Given the description of an element on the screen output the (x, y) to click on. 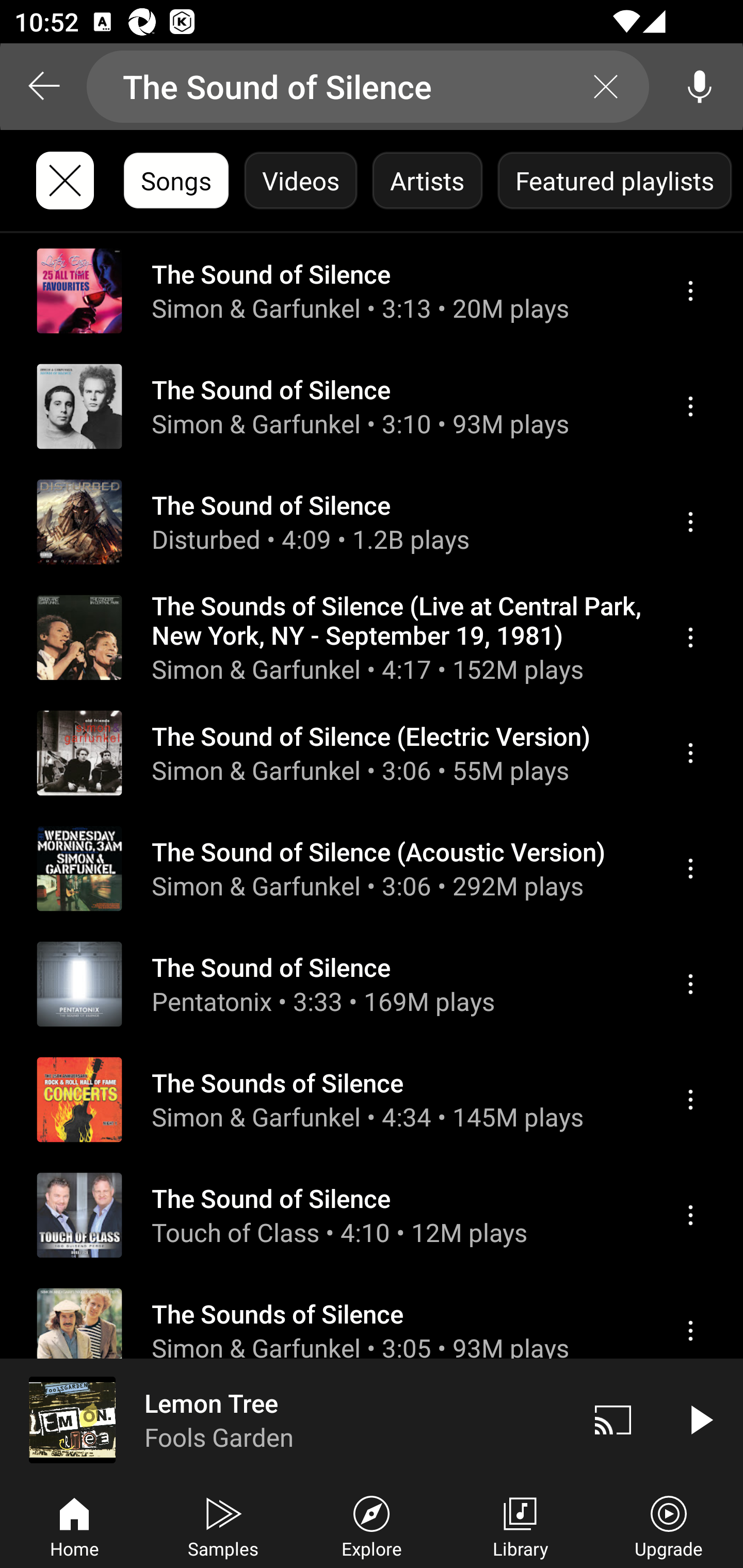
Search back (43, 86)
The Sound of Silence (367, 86)
Clear search (605, 86)
Voice search (699, 86)
Clear filters (64, 181)
Menu (690, 290)
Menu (690, 406)
Menu (690, 522)
Menu (690, 638)
Menu (690, 752)
Menu (690, 868)
Menu (690, 984)
Menu (690, 1099)
Menu (690, 1215)
Menu (690, 1331)
Lemon Tree Fools Garden (284, 1419)
Cast. Disconnected (612, 1419)
Play video (699, 1419)
Home (74, 1524)
Samples (222, 1524)
Explore (371, 1524)
Library (519, 1524)
Upgrade (668, 1524)
